Given the description of an element on the screen output the (x, y) to click on. 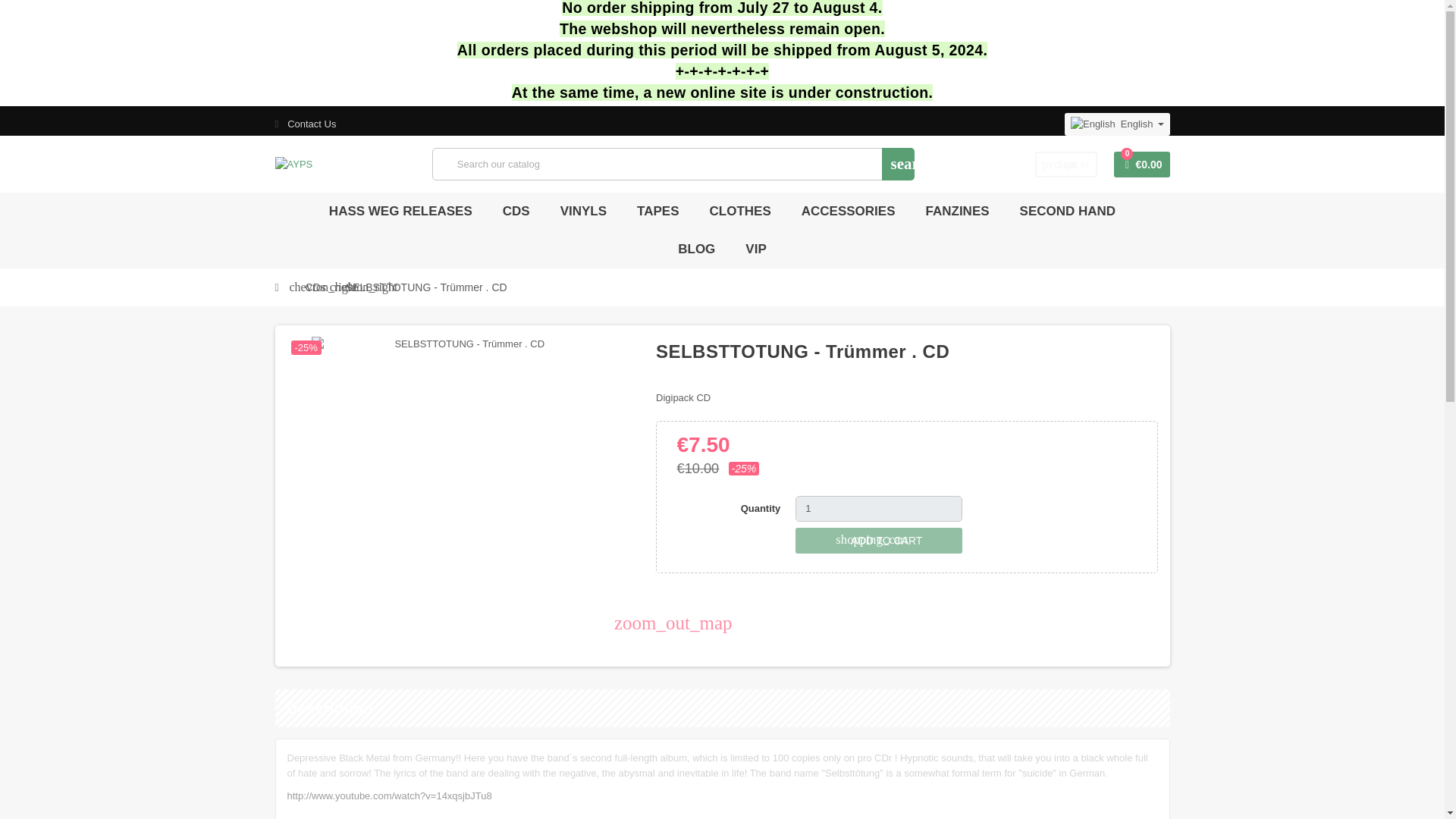
Log in to your customer account (1066, 164)
search (898, 164)
ACCESSORIES (848, 211)
CDs (315, 287)
HASS WEG RELEASES (400, 211)
BLOG (696, 249)
VIP (755, 249)
  English (1117, 124)
1 (878, 508)
AYPS (294, 163)
SECOND HAND (1066, 164)
TAPES (1067, 211)
VINYLS (658, 211)
CLOTHES (582, 211)
